Given the description of an element on the screen output the (x, y) to click on. 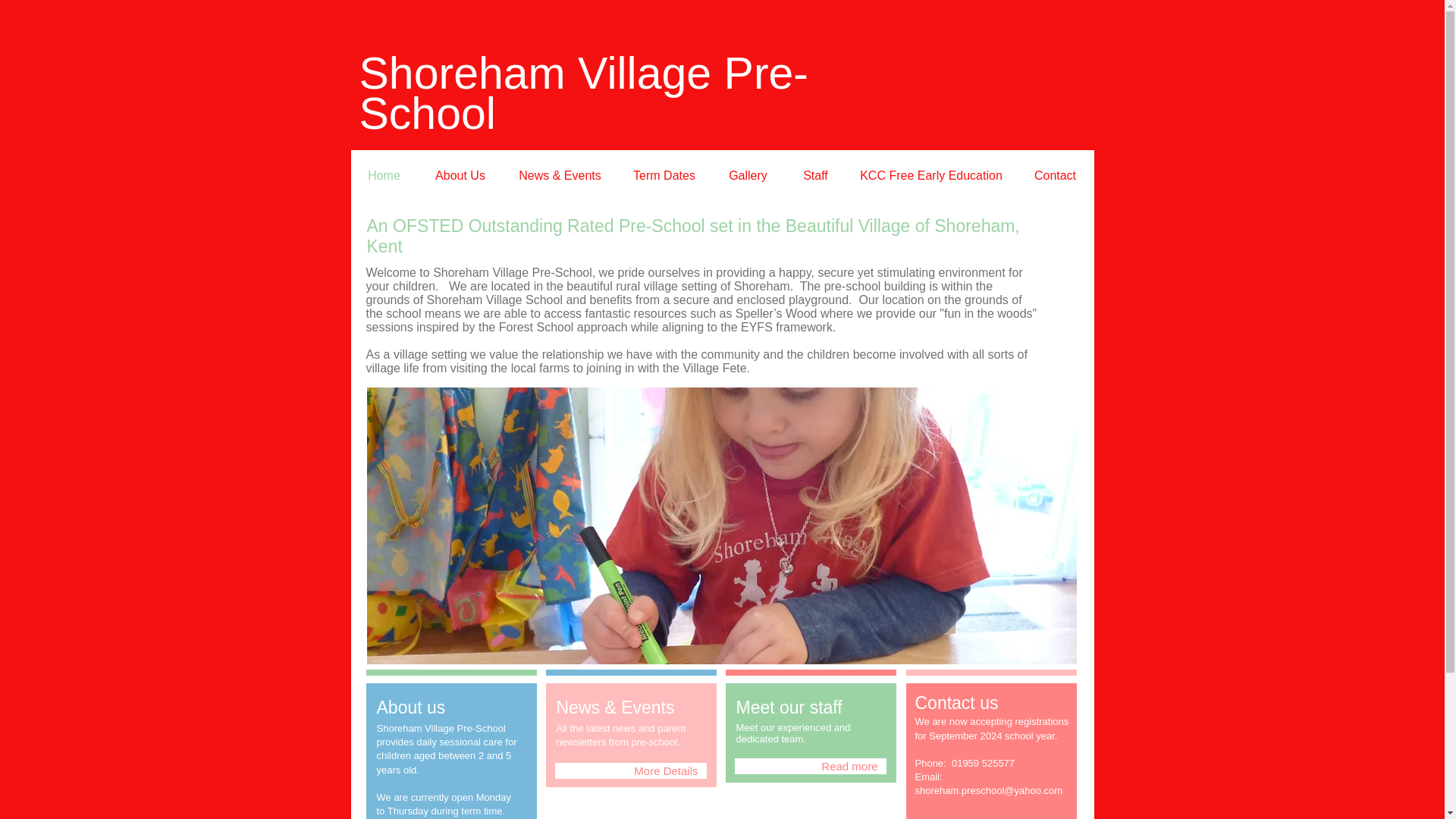
Home (383, 174)
More Details (630, 770)
Contact (1055, 174)
Gallery (747, 174)
Term Dates (664, 174)
Staff (814, 174)
About Us (459, 174)
Shoreham (462, 73)
KCC Free Early Education (930, 174)
Read more (809, 765)
